Given the description of an element on the screen output the (x, y) to click on. 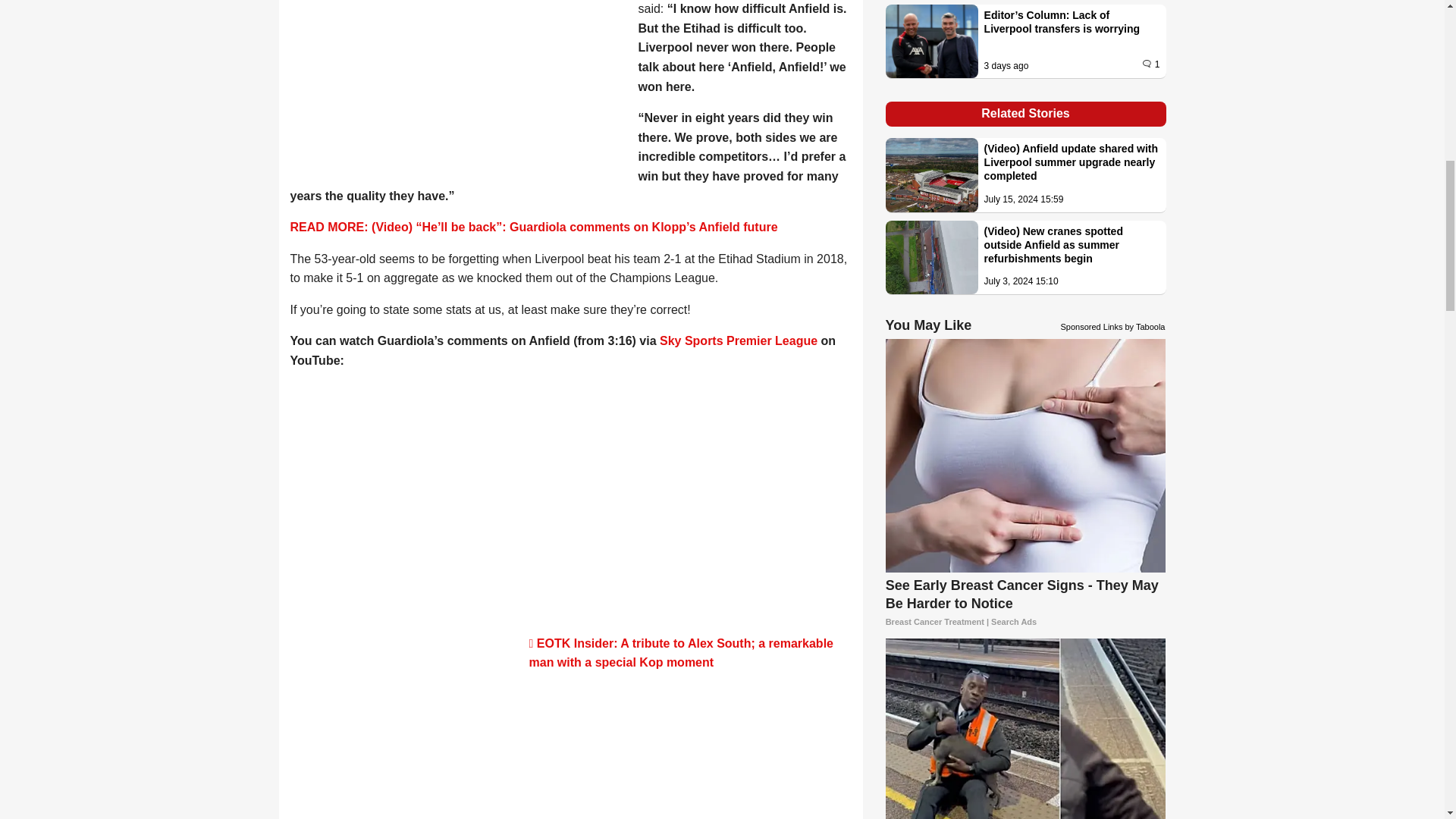
Sky Sports Premier League (737, 340)
